Given the description of an element on the screen output the (x, y) to click on. 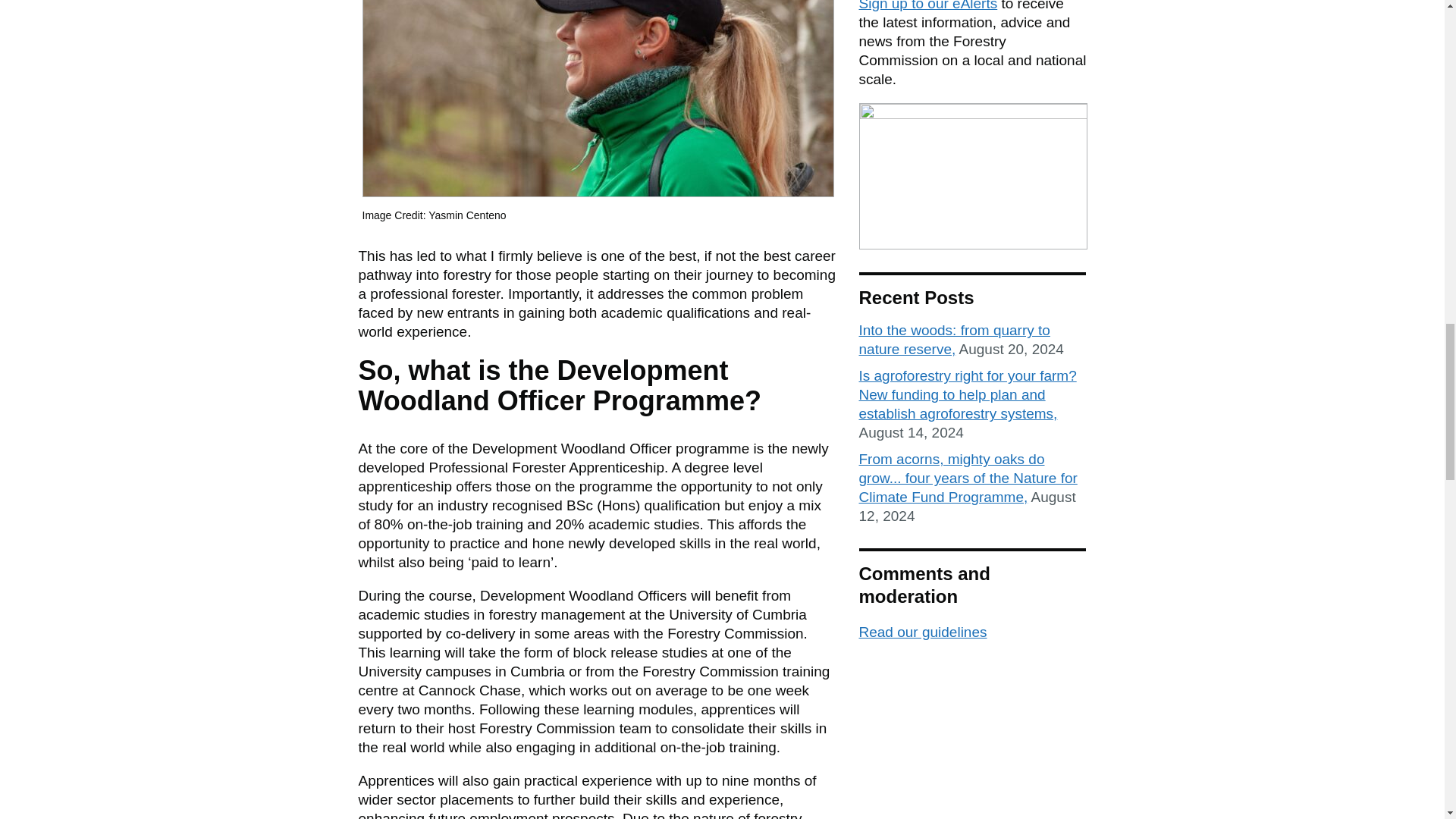
Read our guidelines (923, 631)
Sign up to our eAlerts (928, 5)
Into the woods: from quarry to nature reserve (954, 339)
